Given the description of an element on the screen output the (x, y) to click on. 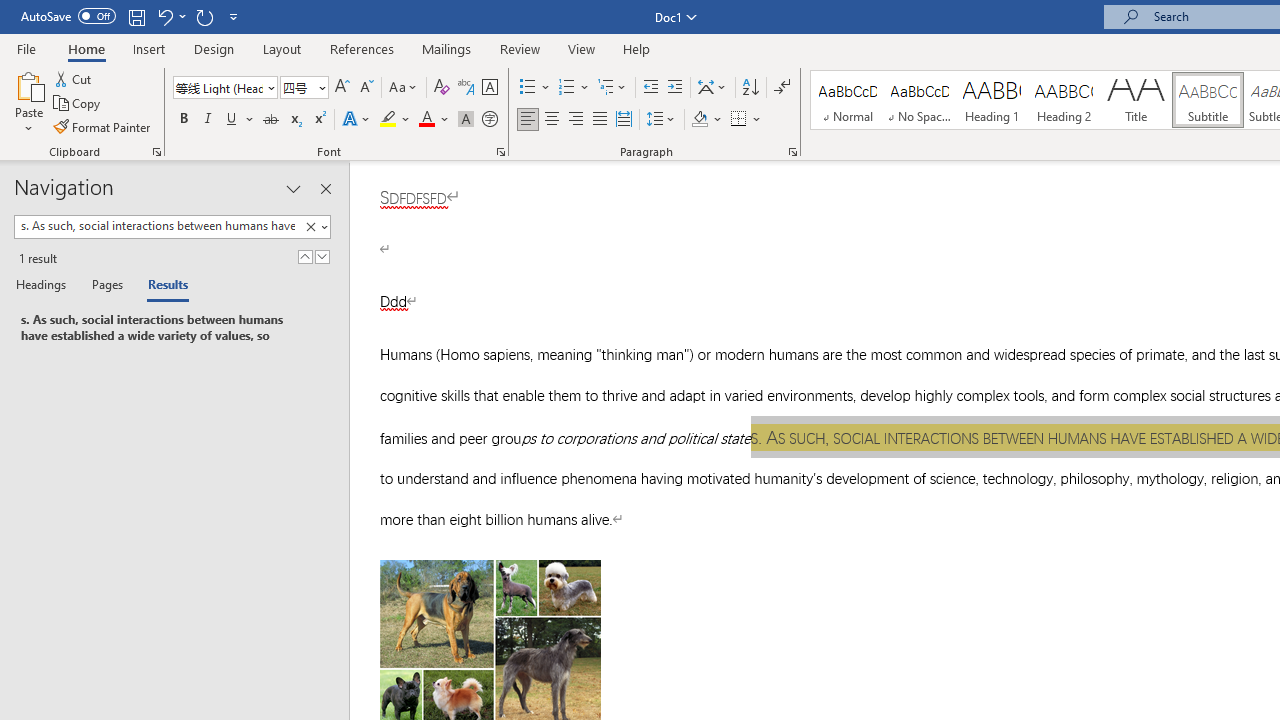
Pages (105, 285)
Paste (28, 102)
Class: NetUIImage (310, 226)
Asian Layout (712, 87)
Copy (78, 103)
Repeat Style (204, 15)
Numbering (566, 87)
Align Left (527, 119)
Clear Formatting (442, 87)
Paste (28, 84)
Underline (239, 119)
Undo Style (164, 15)
Text Highlight Color Yellow (388, 119)
Results (161, 285)
